Given the description of an element on the screen output the (x, y) to click on. 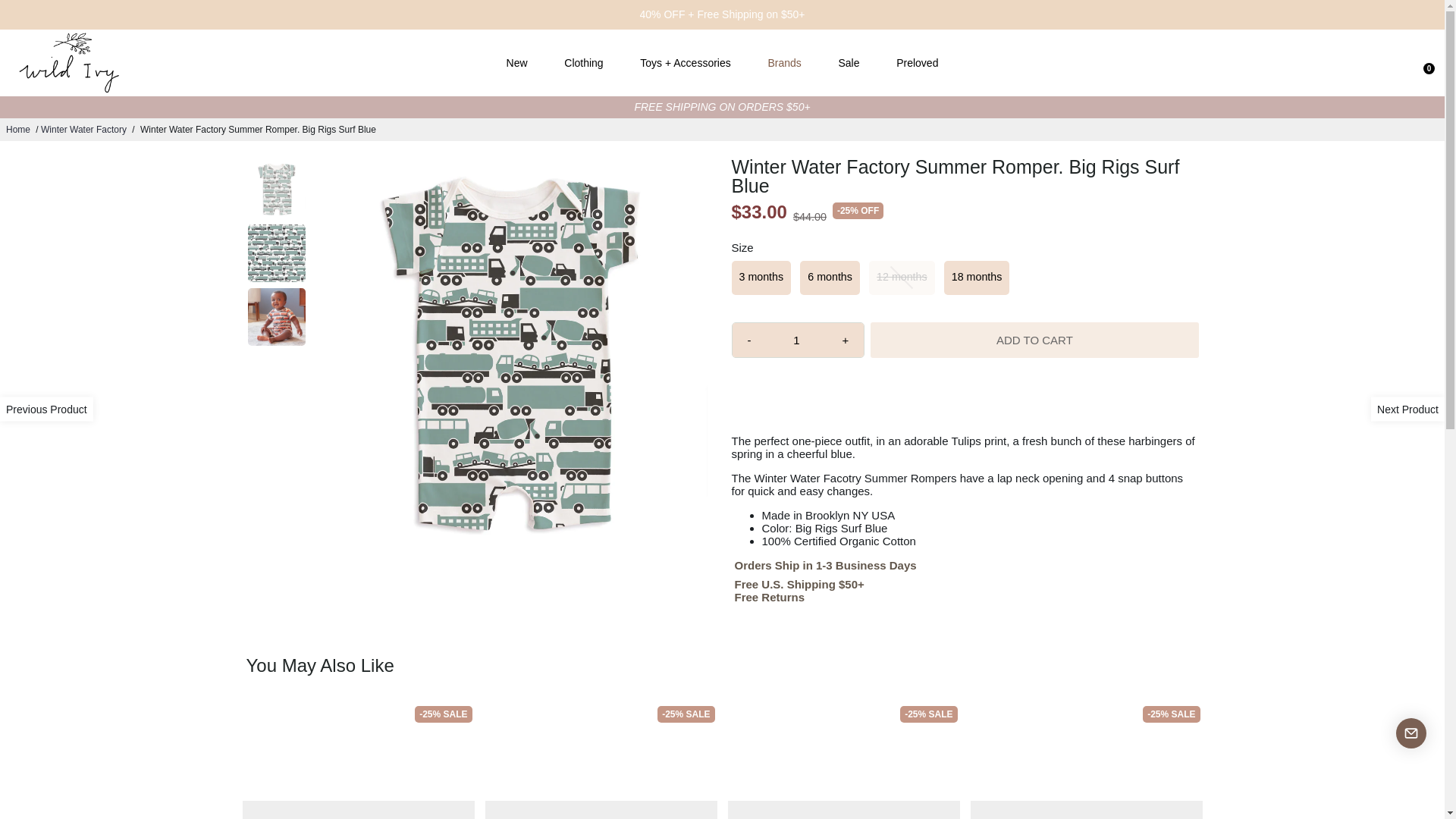
Home (17, 129)
1 (796, 339)
Clothing (582, 63)
New (517, 63)
